Given the description of an element on the screen output the (x, y) to click on. 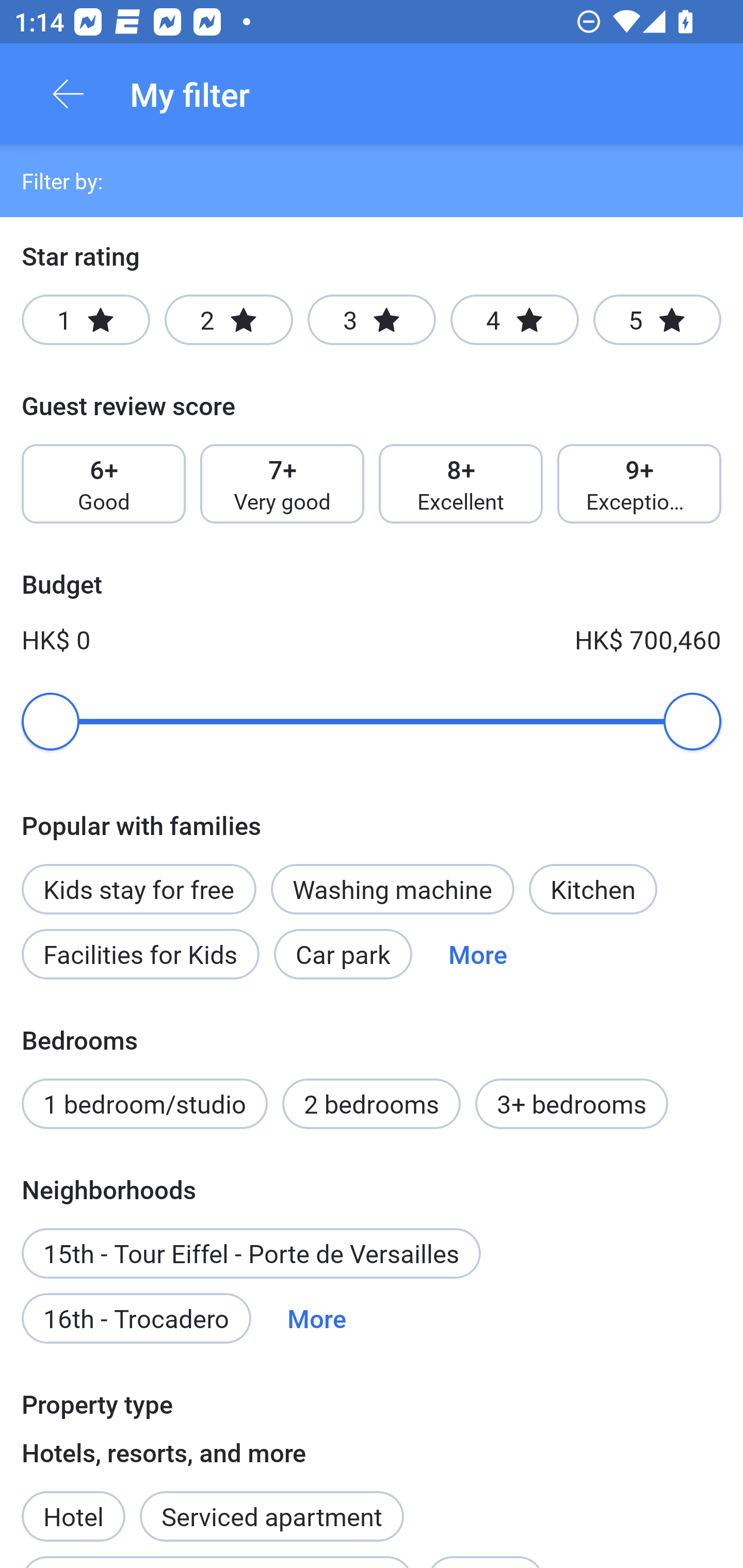
1 (85, 319)
2 (228, 319)
3 (371, 319)
4 (514, 319)
5 (657, 319)
6+ Good (103, 483)
7+ Very good (281, 483)
8+ Excellent (460, 483)
9+ Exceptional (639, 483)
Kids stay for free (138, 878)
Washing machine (392, 888)
Kitchen (593, 888)
Facilities for Kids (140, 954)
Car park (343, 954)
More (477, 954)
1 bedroom/studio (144, 1103)
2 bedrooms (371, 1103)
3+ bedrooms (571, 1103)
15th - Tour Eiffel - Porte de Versailles (250, 1253)
16th - Trocadero (136, 1317)
More (316, 1317)
Hotel (73, 1505)
Serviced apartment (271, 1505)
